Given the description of an element on the screen output the (x, y) to click on. 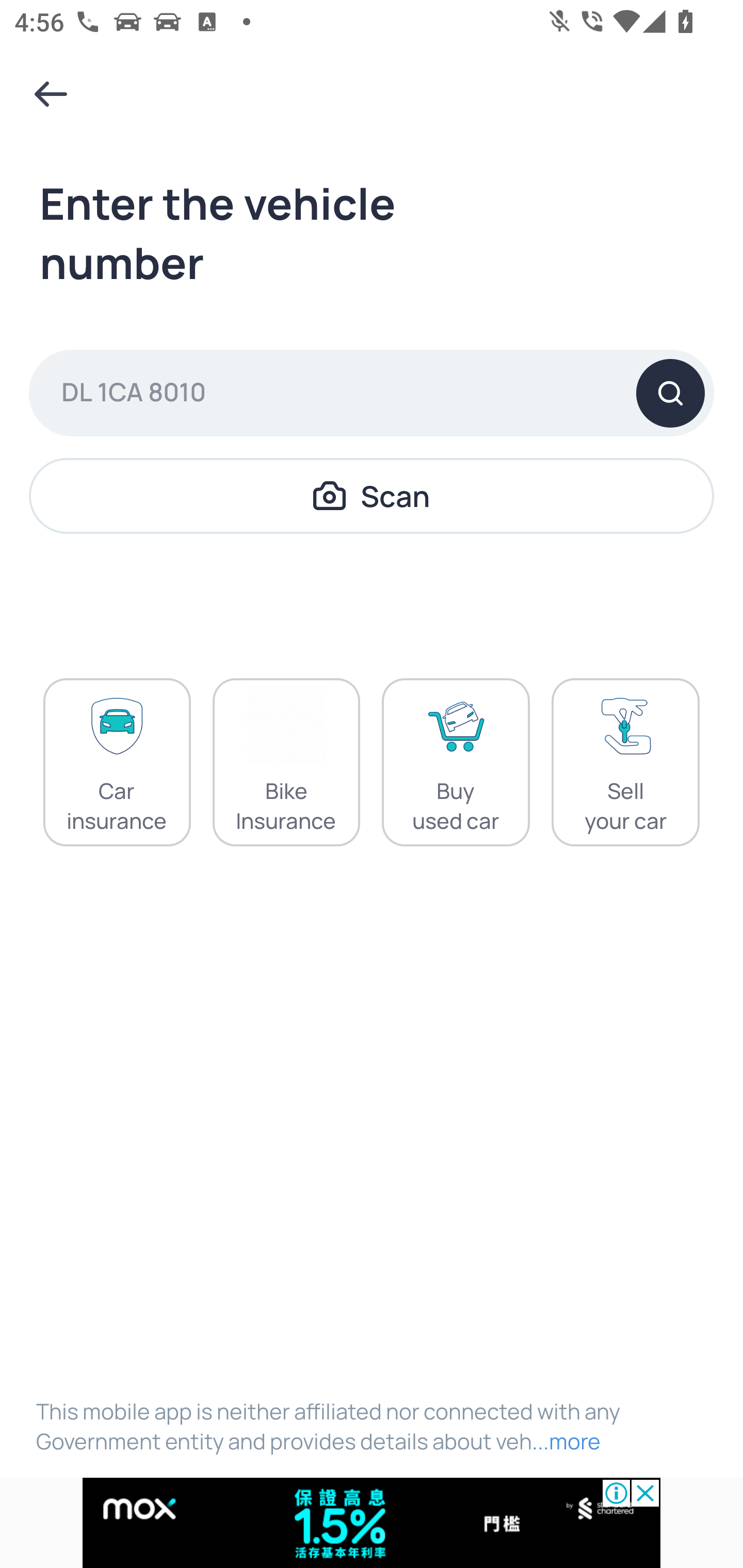
Navigate up (50, 93)
DL 1CA 8010 (371, 392)
Scan (371, 495)
Car
insurance (116, 762)
Bike
Insurance (286, 762)
Buy
used car (455, 762)
Sell
your car (625, 762)
